Given the description of an element on the screen output the (x, y) to click on. 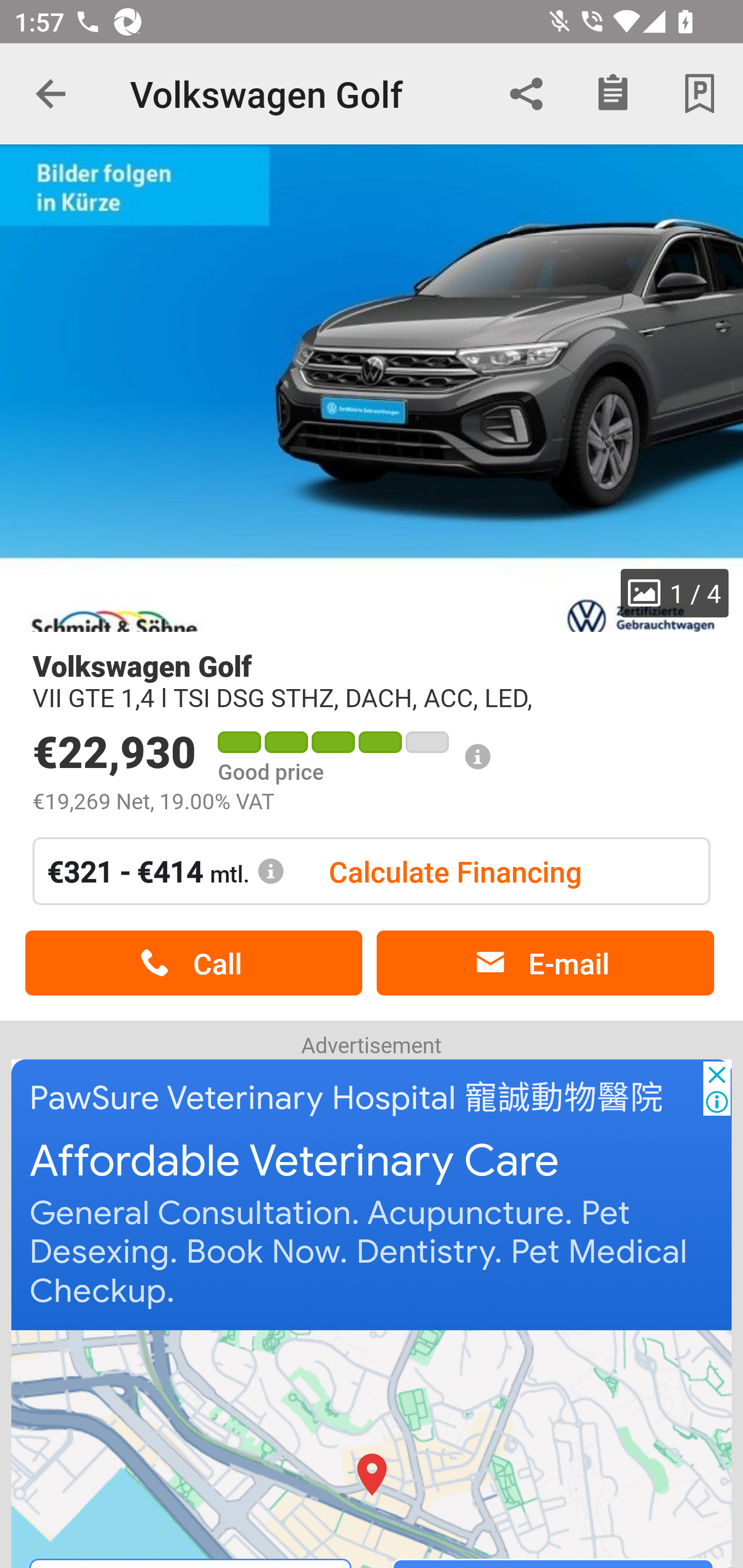
Navigate up (50, 93)
Share via (525, 93)
Checklist (612, 93)
Park (699, 93)
Calculate Financing (454, 870)
€321 - €414 mtl. (165, 870)
Call (193, 963)
E-mail (545, 963)
PawSure Veterinary Hospital 寵誠動物醫院 (346, 1097)
Affordable Veterinary Care (294, 1161)
Directions Call (372, 1448)
